Given the description of an element on the screen output the (x, y) to click on. 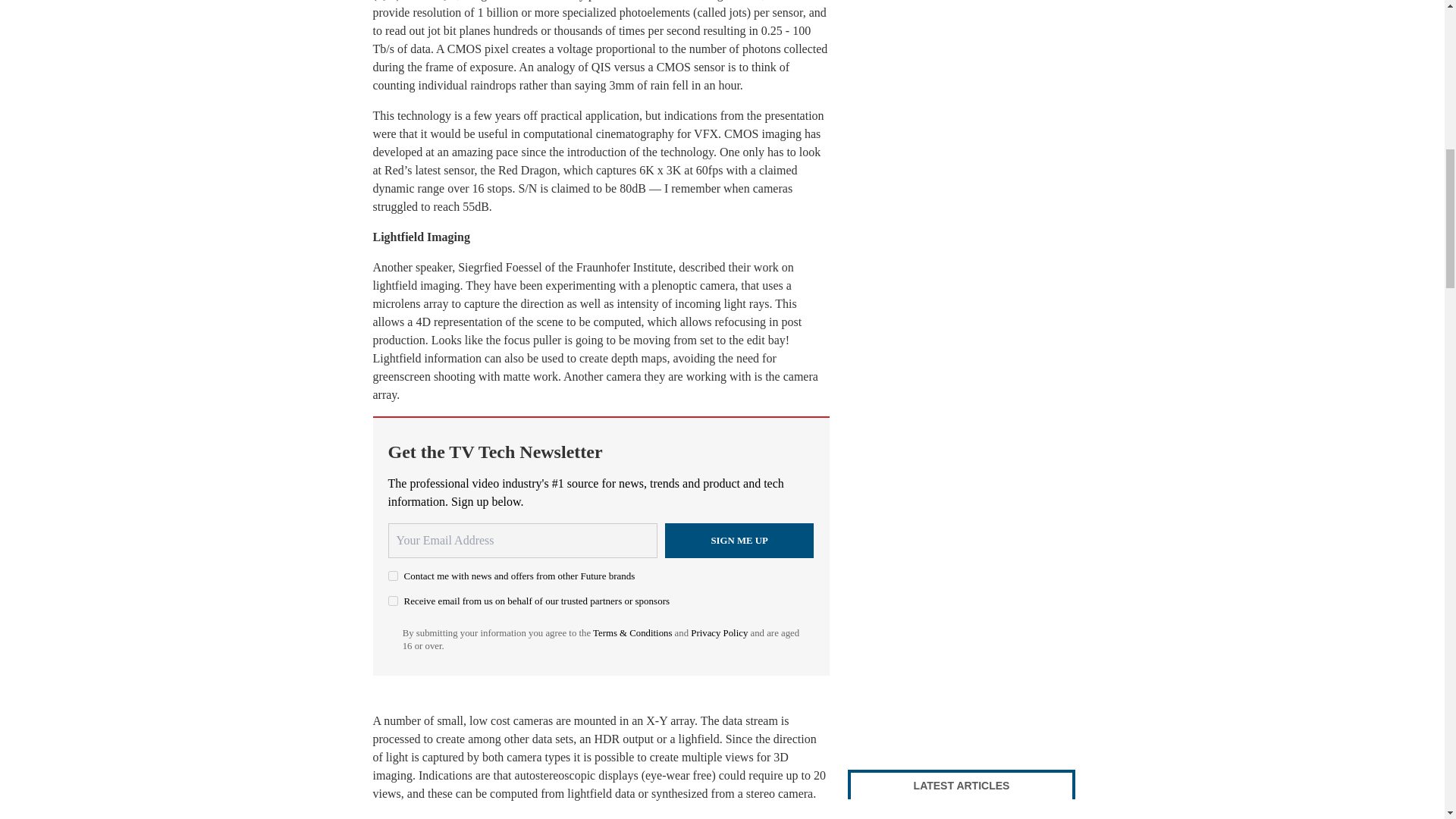
Privacy Policy (719, 633)
on (392, 601)
Sign me up (739, 540)
Sign me up (739, 540)
on (392, 575)
